Given the description of an element on the screen output the (x, y) to click on. 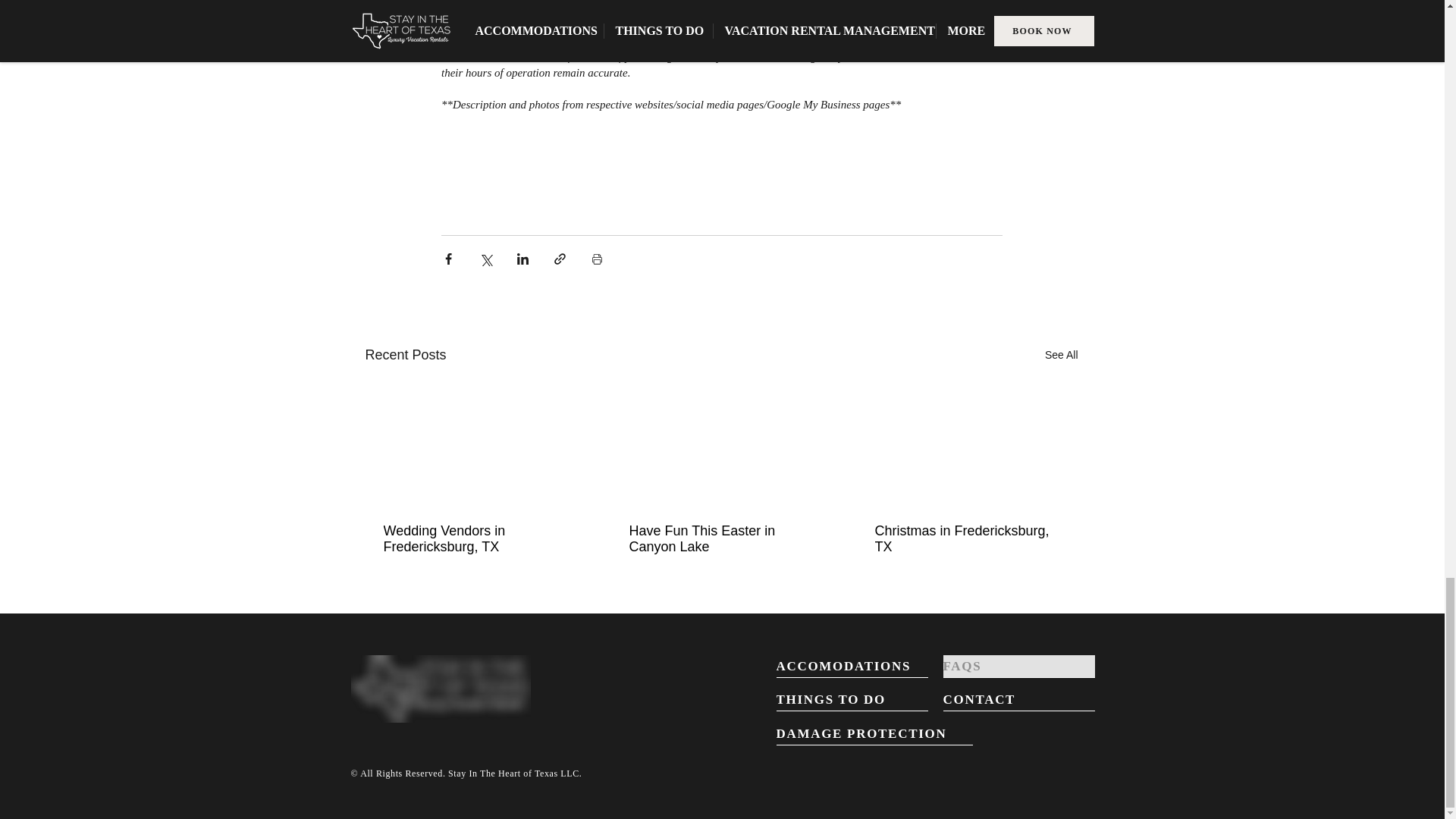
See All (1061, 354)
www.stayintx.com (820, 24)
